Given the description of an element on the screen output the (x, y) to click on. 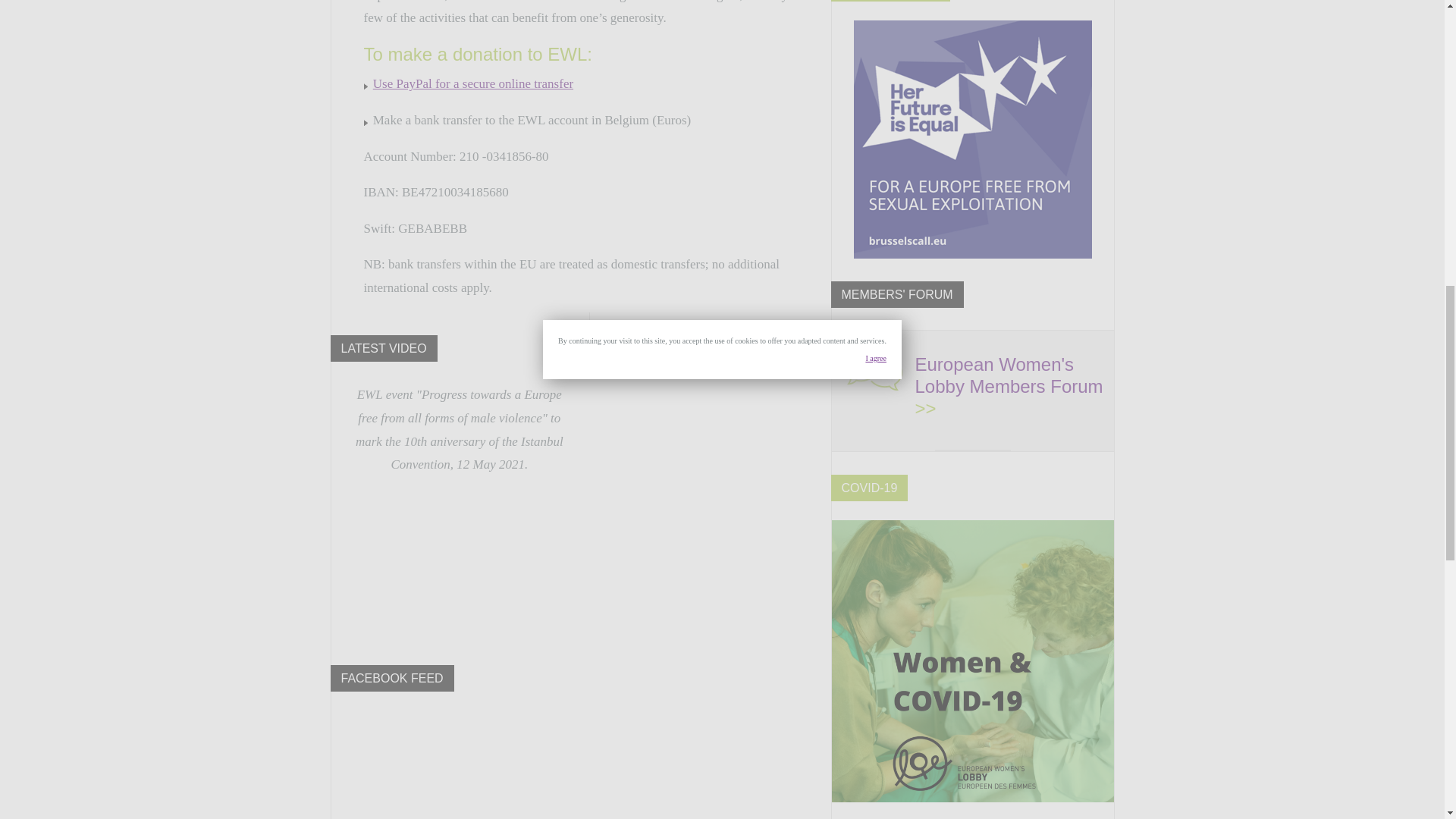
YouTube video player (458, 561)
